Given the description of an element on the screen output the (x, y) to click on. 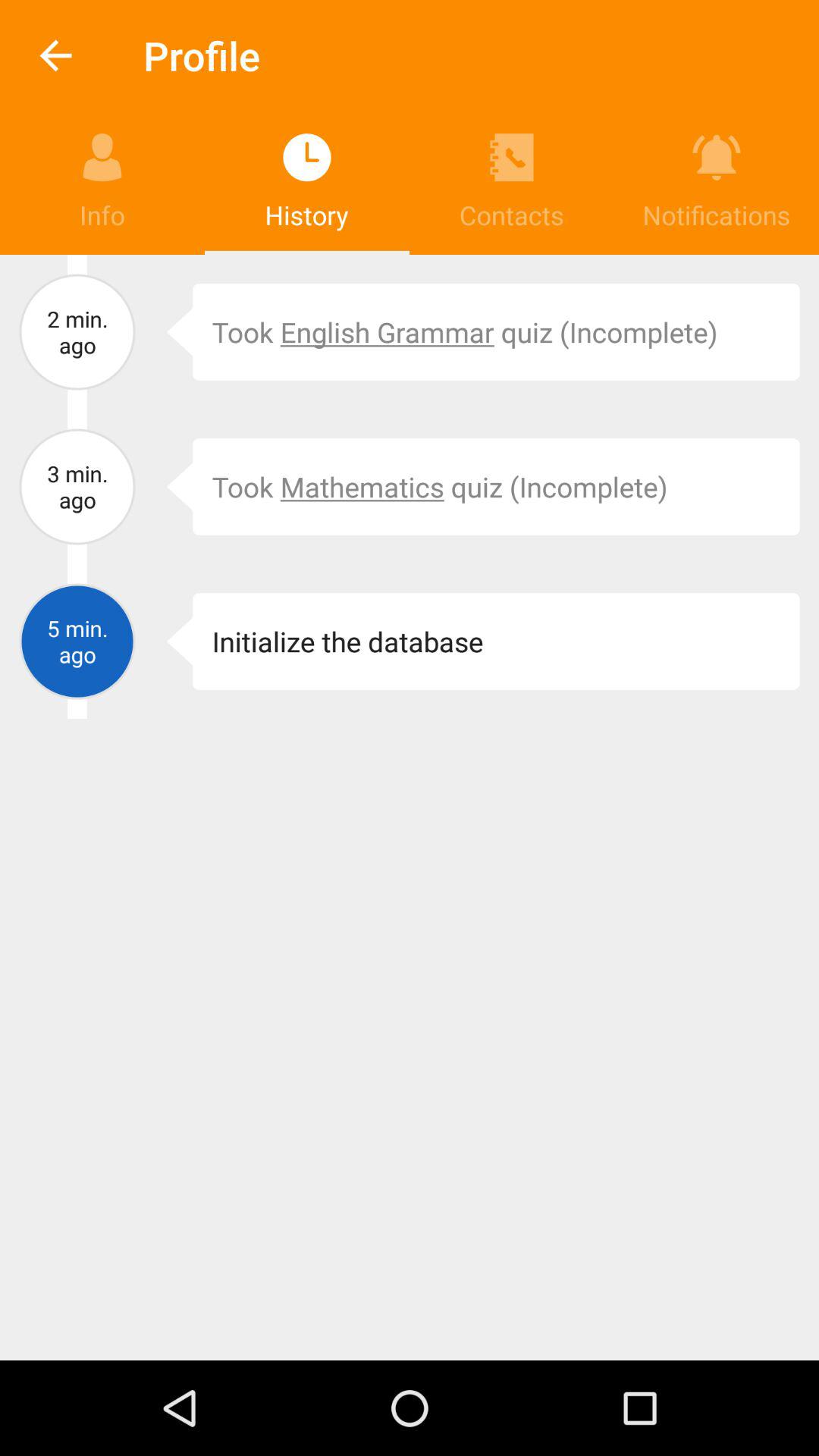
turn off the app to the left of took mathematics quiz icon (168, 486)
